Given the description of an element on the screen output the (x, y) to click on. 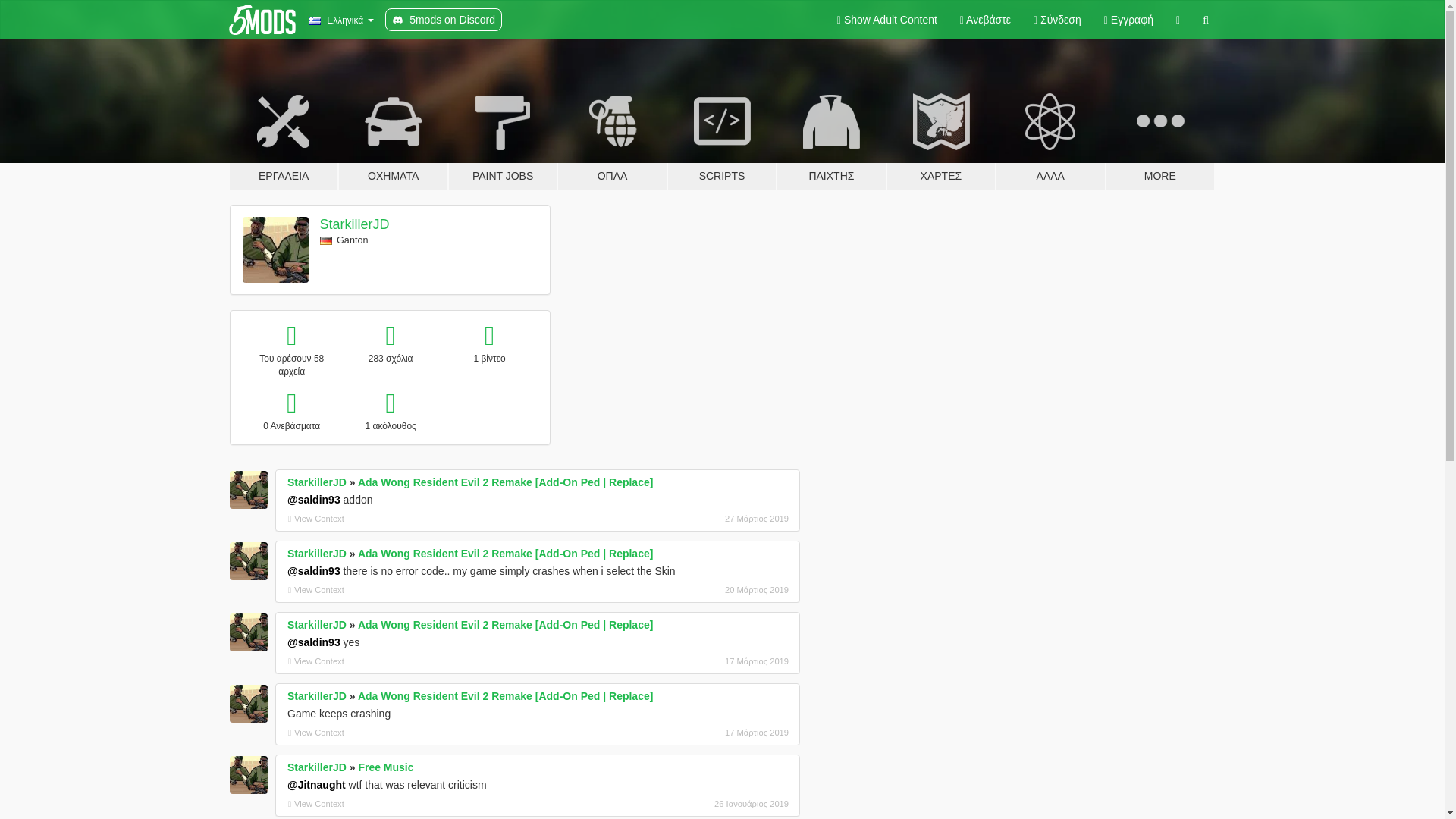
5mods on Discord (443, 19)
Show Adult Content (887, 19)
Light mode (887, 19)
